Given the description of an element on the screen output the (x, y) to click on. 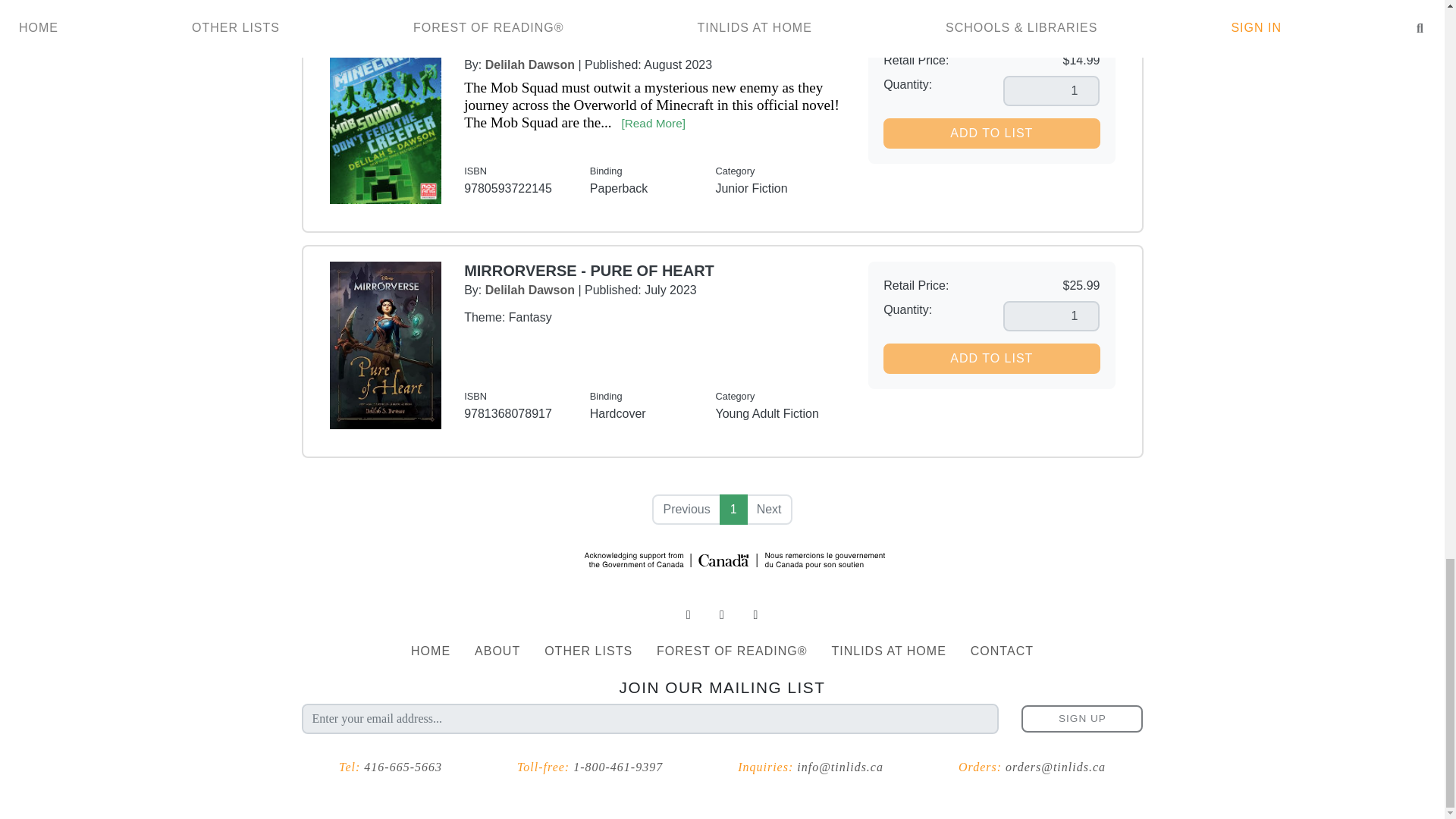
ADD TO LIST (991, 358)
Previous (686, 509)
1 (733, 509)
Delilah Dawson (529, 64)
1 (1051, 91)
1 (1051, 316)
Delilah Dawson (529, 289)
ADD TO LIST (991, 132)
